Given the description of an element on the screen output the (x, y) to click on. 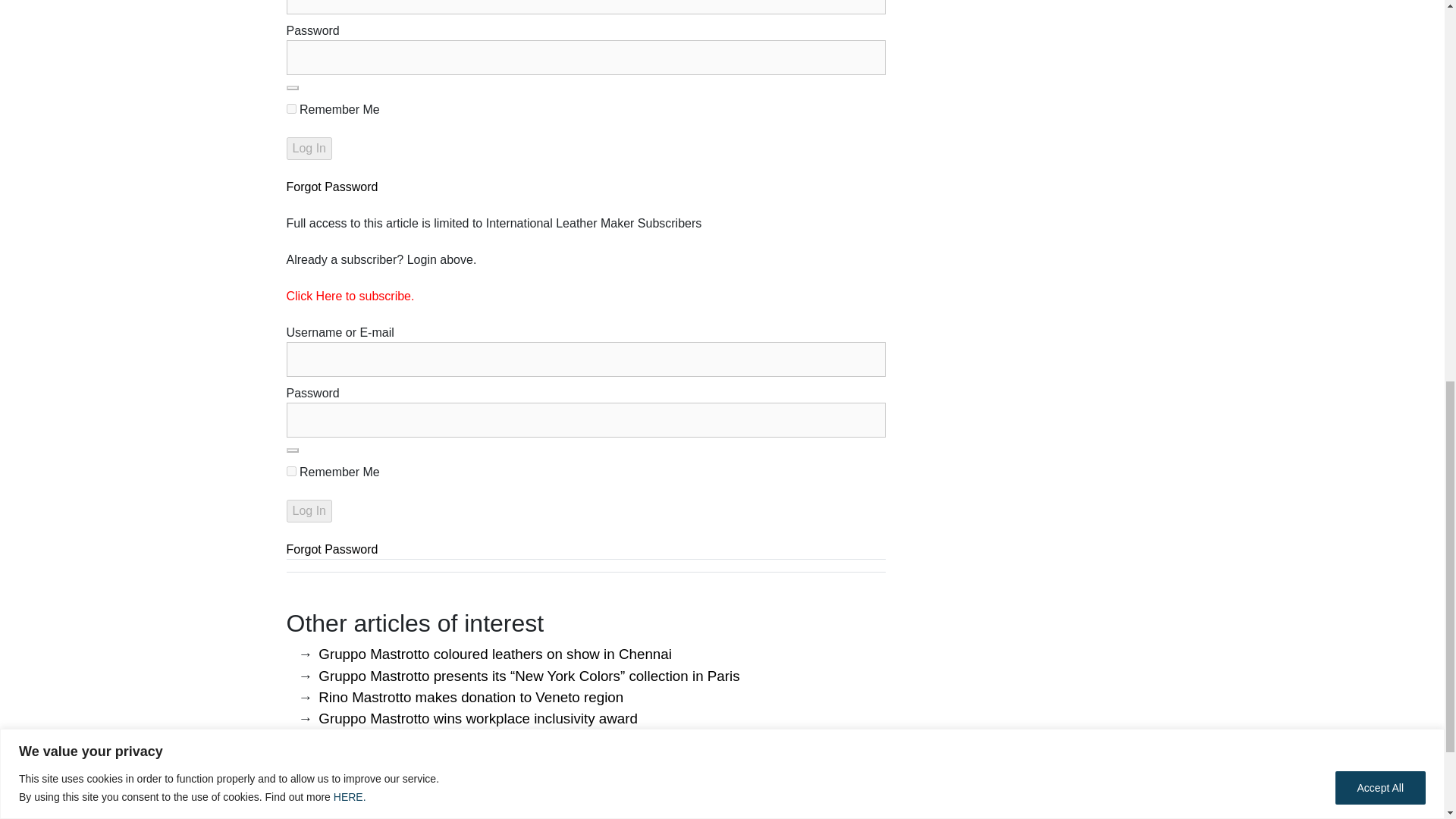
forever (291, 108)
Forgot Password (332, 186)
Log In (308, 148)
Log In (308, 510)
Log In (308, 510)
forever (291, 470)
Click Here to subscribe. (350, 295)
Log In (308, 148)
